Given the description of an element on the screen output the (x, y) to click on. 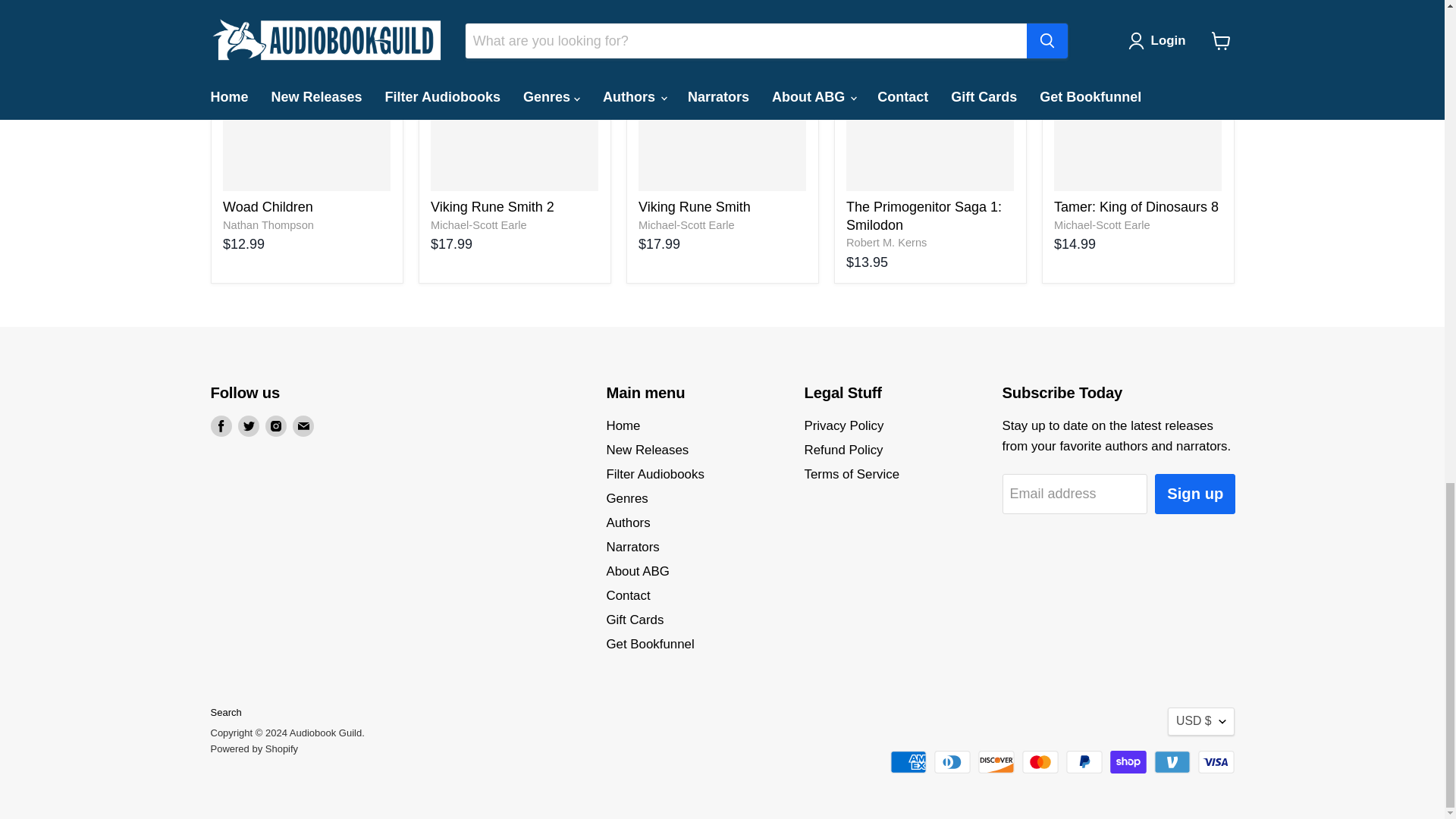
Michael-Scott Earle (1102, 224)
Facebook (221, 425)
Twitter (248, 425)
American Express (907, 762)
Robert M. Kerns (885, 242)
Michael-Scott Earle (478, 224)
Michael-Scott Earle (687, 224)
Nathan Thompson (268, 224)
